Given the description of an element on the screen output the (x, y) to click on. 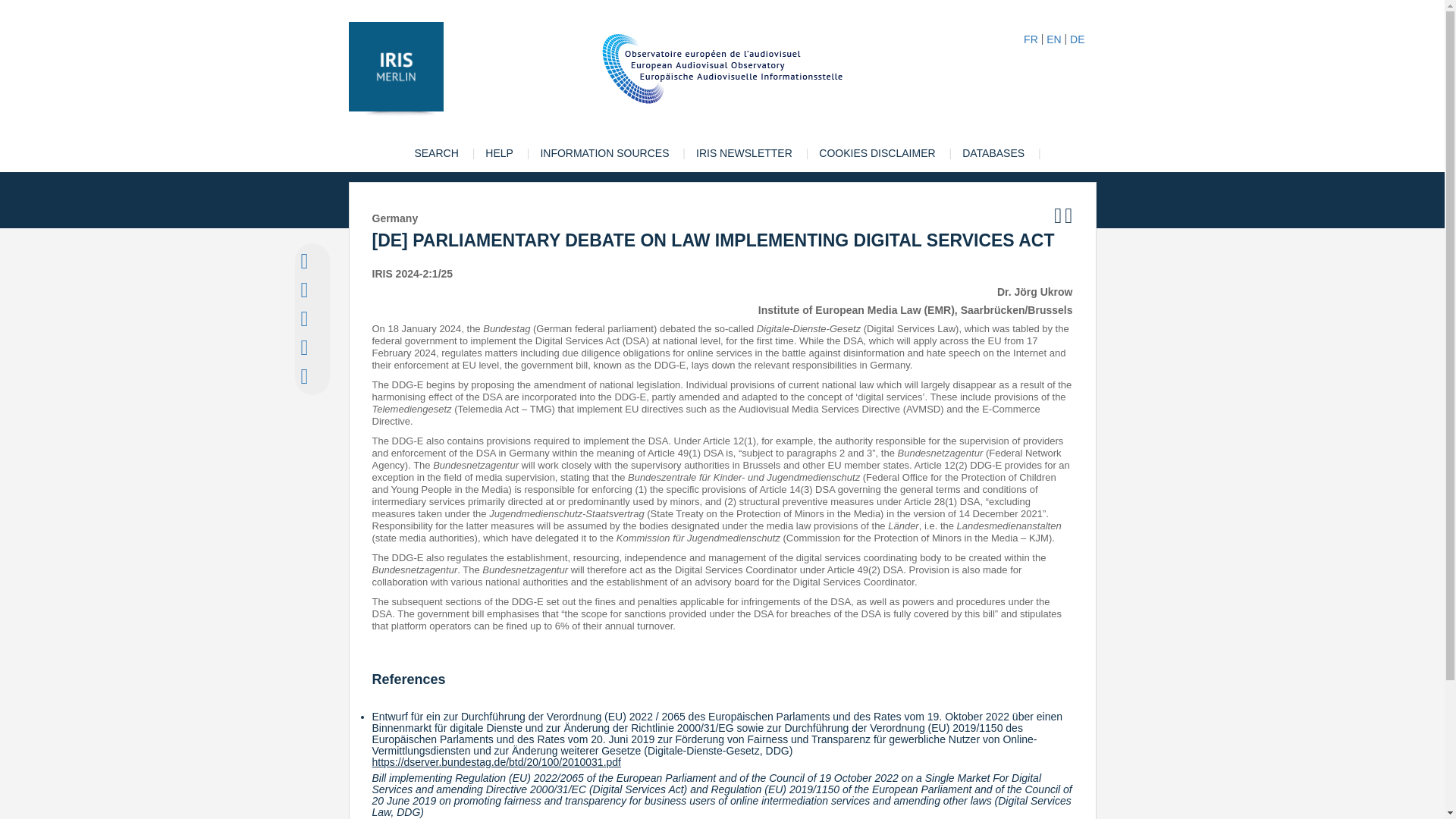
COOKIES DISCLAIMER (876, 152)
FR (1030, 39)
IRIS NEWSLETTER (744, 152)
DE (1077, 39)
HELP (499, 152)
INFORMATION SOURCES (604, 152)
DATABASES (993, 152)
EN (1053, 39)
SEARCH (435, 152)
